Given the description of an element on the screen output the (x, y) to click on. 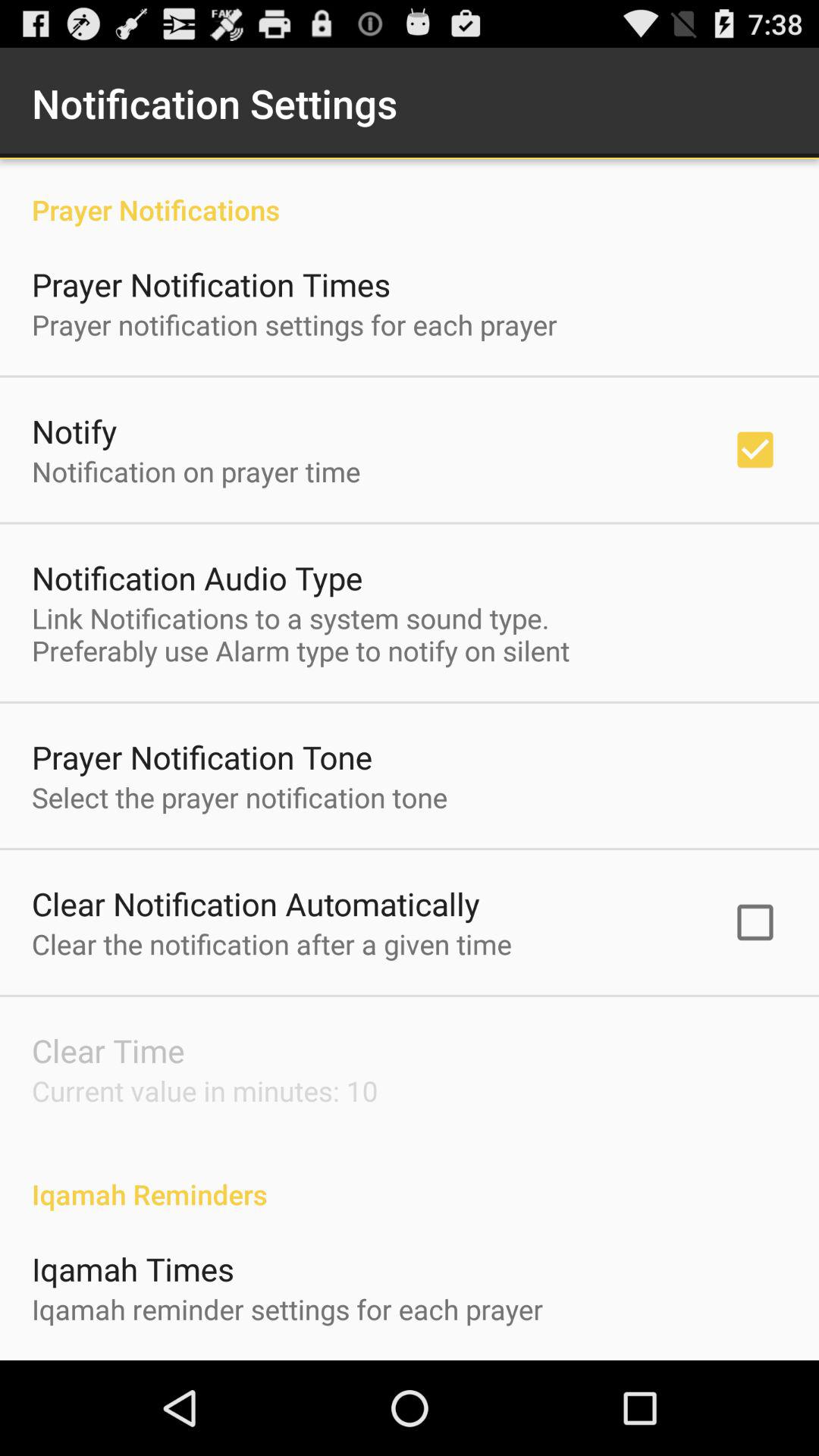
select link notifications to item (300, 634)
